Given the description of an element on the screen output the (x, y) to click on. 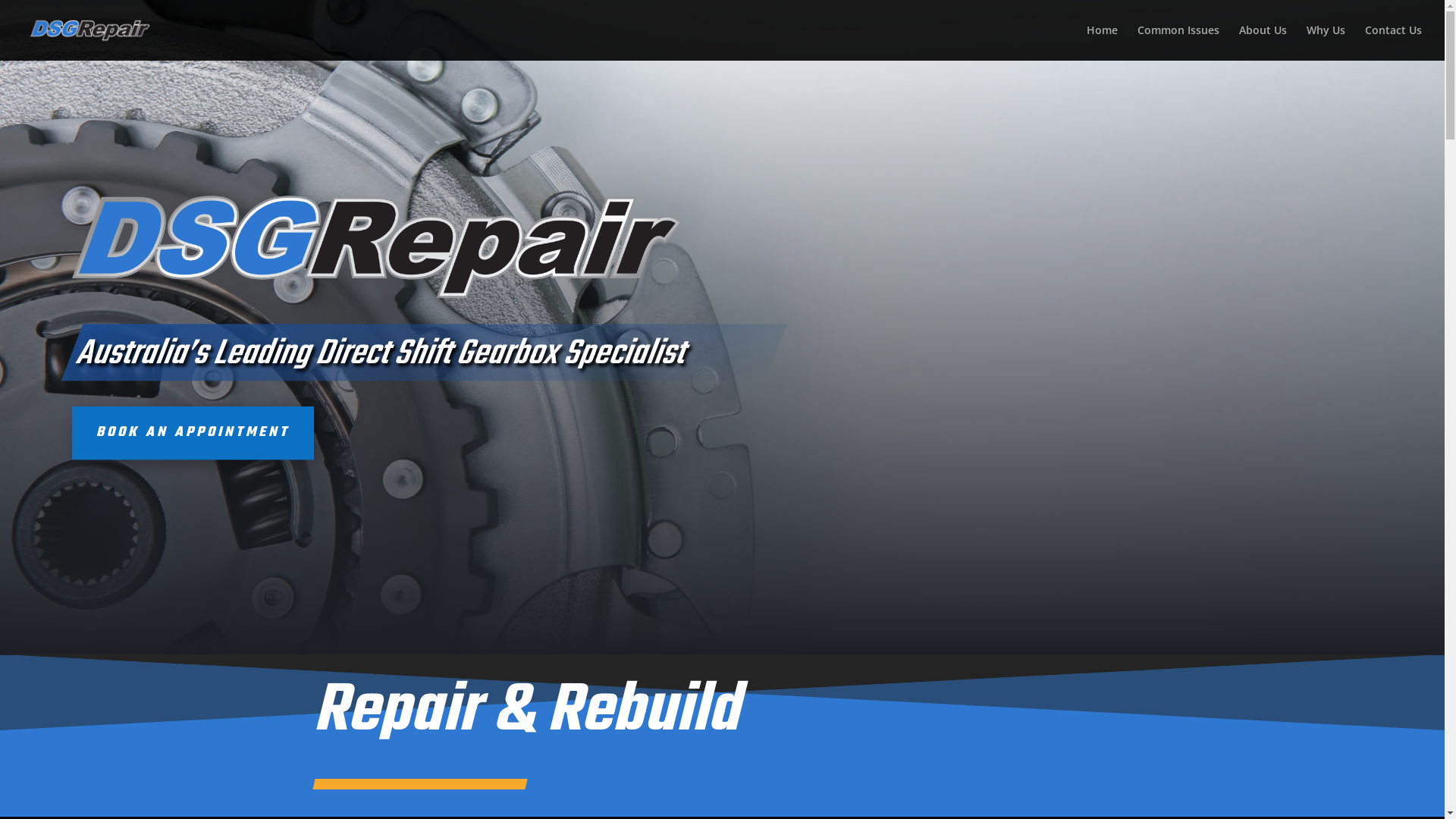
About Us Element type: text (1262, 42)
Common Issues Element type: text (1178, 42)
Why Us Element type: text (1325, 42)
Home Element type: text (1101, 42)
Contact Us Element type: text (1393, 42)
BOOK AN APPOINTMENT Element type: text (192, 432)
